Given the description of an element on the screen output the (x, y) to click on. 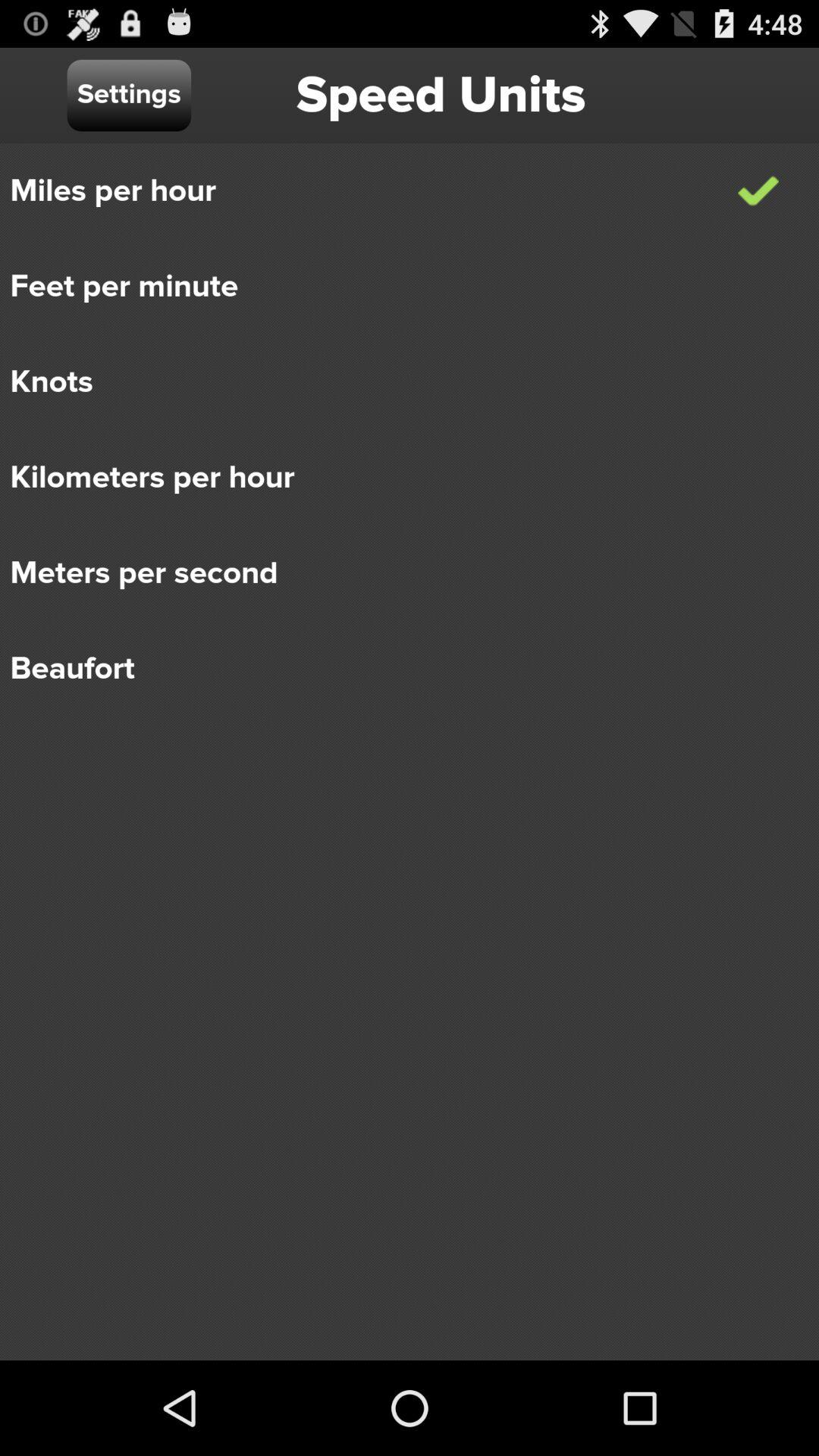
turn on the settings at the top left corner (129, 95)
